Given the description of an element on the screen output the (x, y) to click on. 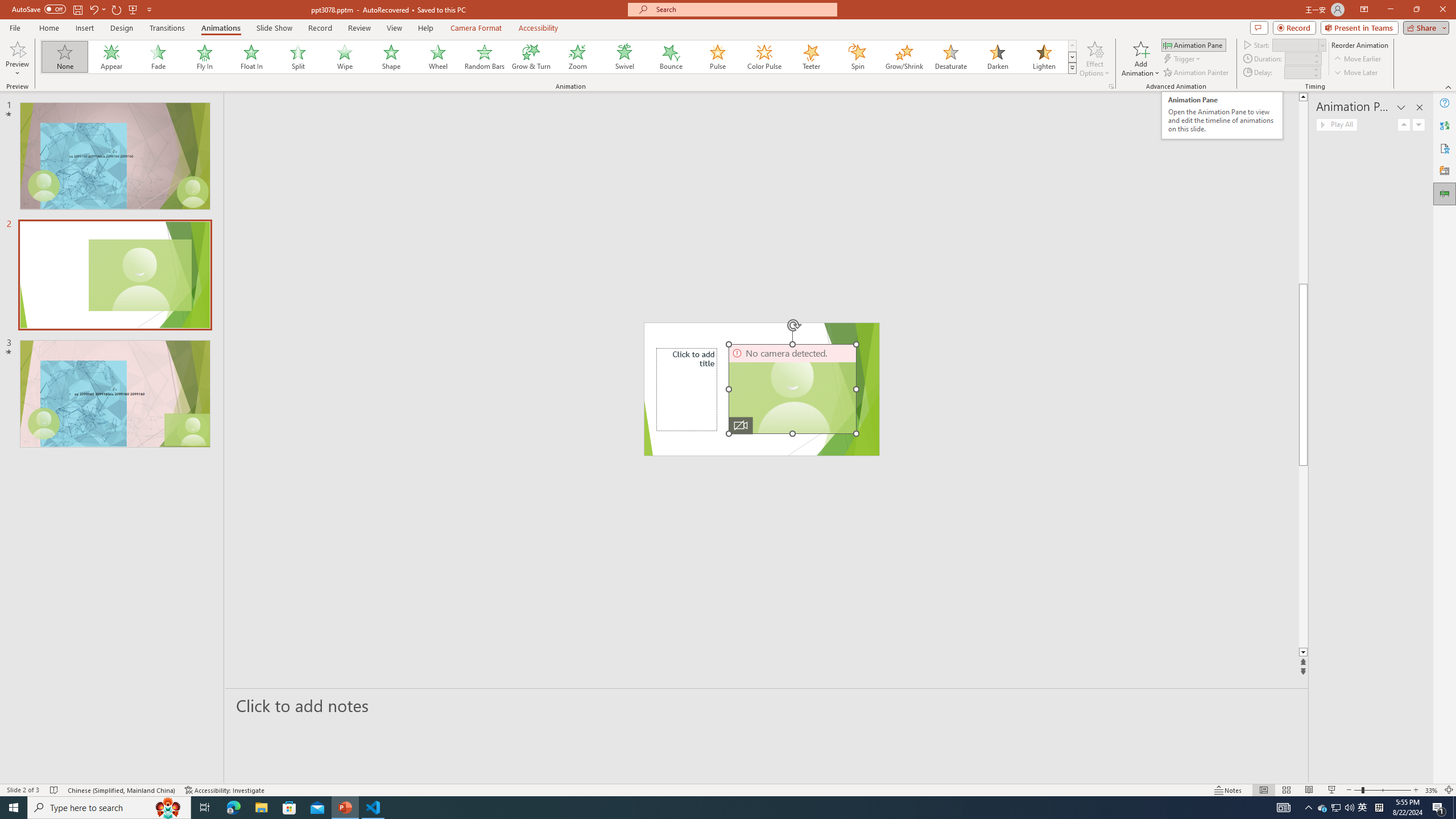
AutomationID: AnimationGallery (558, 56)
Appear (111, 56)
Camera 3, No camera detected. (792, 388)
